Given the description of an element on the screen output the (x, y) to click on. 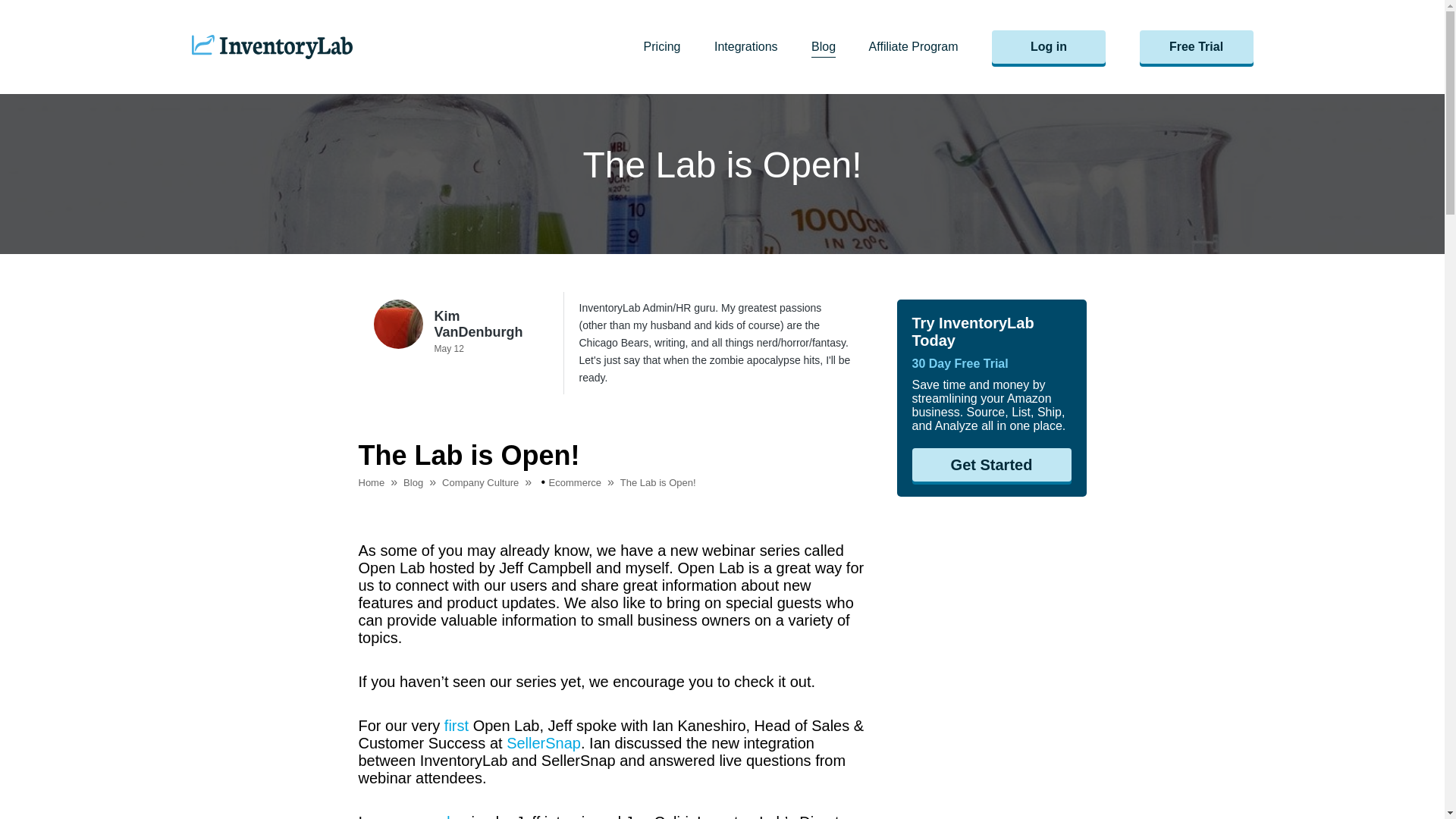
Blog (838, 46)
Company Culture (489, 481)
Free Trial (1195, 46)
Log in (1064, 46)
Get Started (990, 464)
Free Trial (1195, 46)
Home (380, 481)
first (456, 725)
Log in (1048, 46)
Affiliate Program (928, 46)
